Given the description of an element on the screen output the (x, y) to click on. 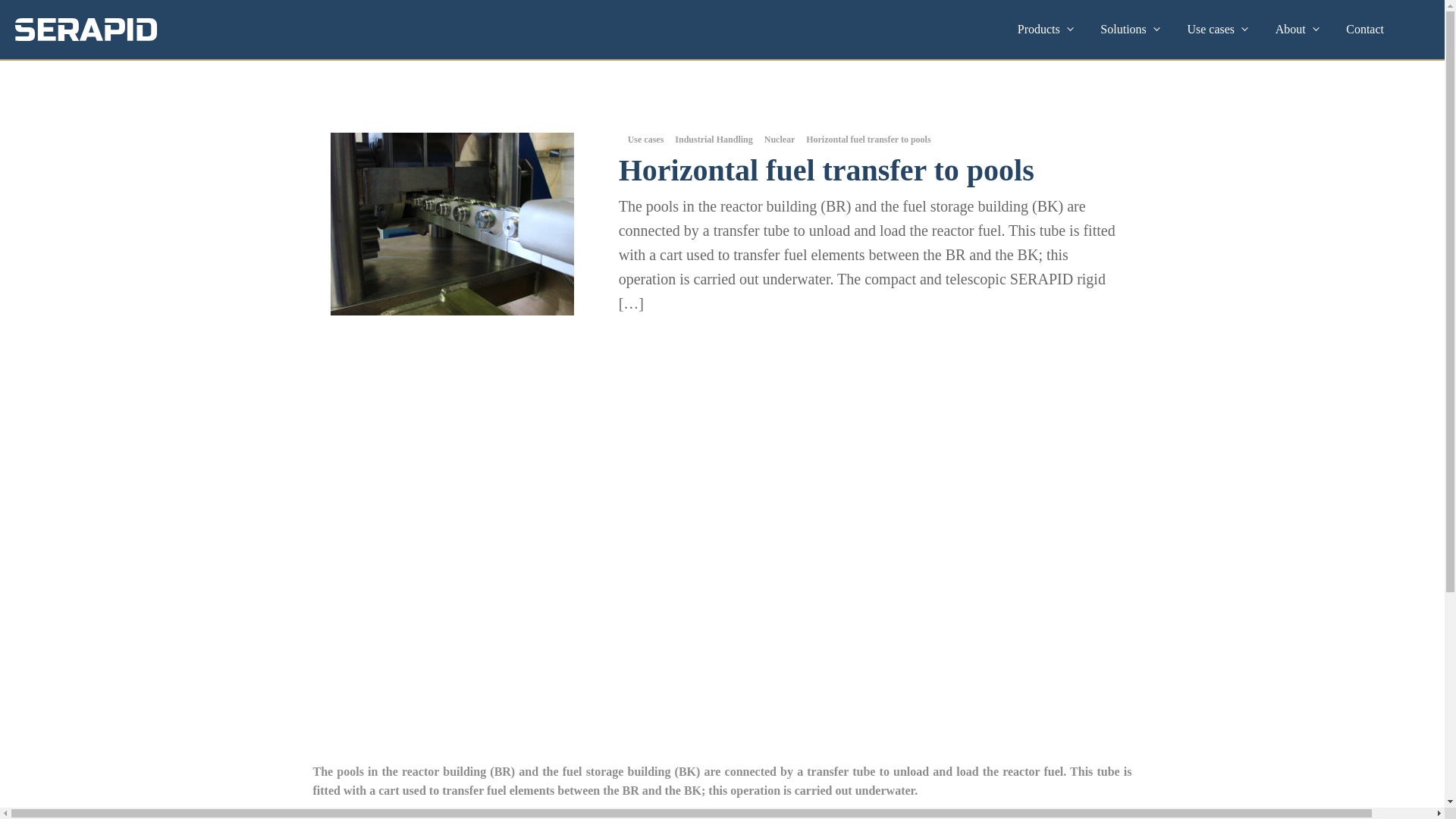
Solutions (1128, 29)
Use cases (1215, 29)
Products (1044, 29)
